Given the description of an element on the screen output the (x, y) to click on. 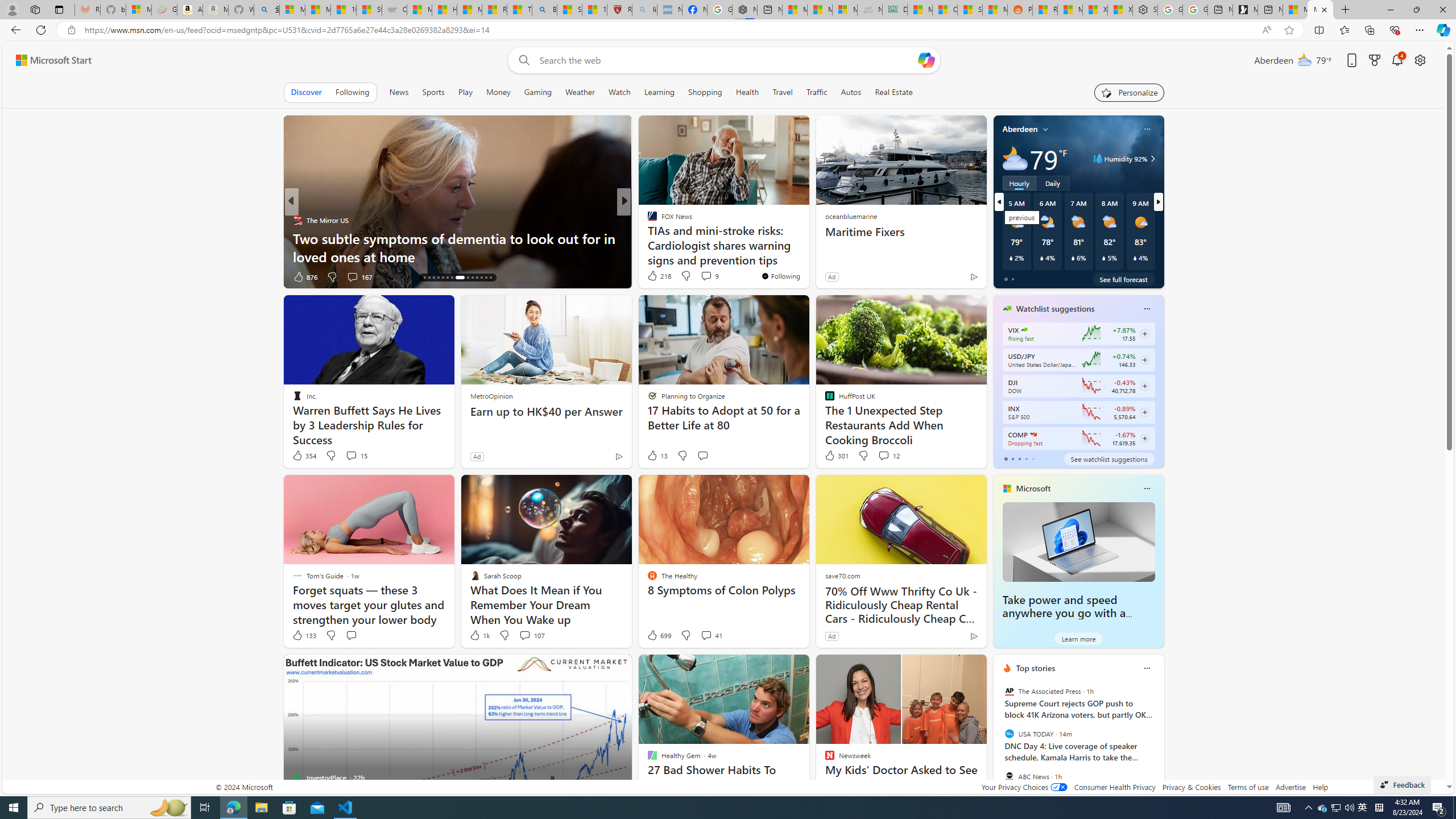
Top stories (1035, 668)
save70.com (842, 574)
Robert H. Shmerling, MD - Harvard Health (619, 9)
133 Like (303, 634)
Shopping (705, 92)
Tasting Table (647, 219)
tab-2 (1019, 458)
Watchlist suggestions (1055, 308)
View comments 9 Comment (705, 275)
876 Like (304, 276)
